Given the description of an element on the screen output the (x, y) to click on. 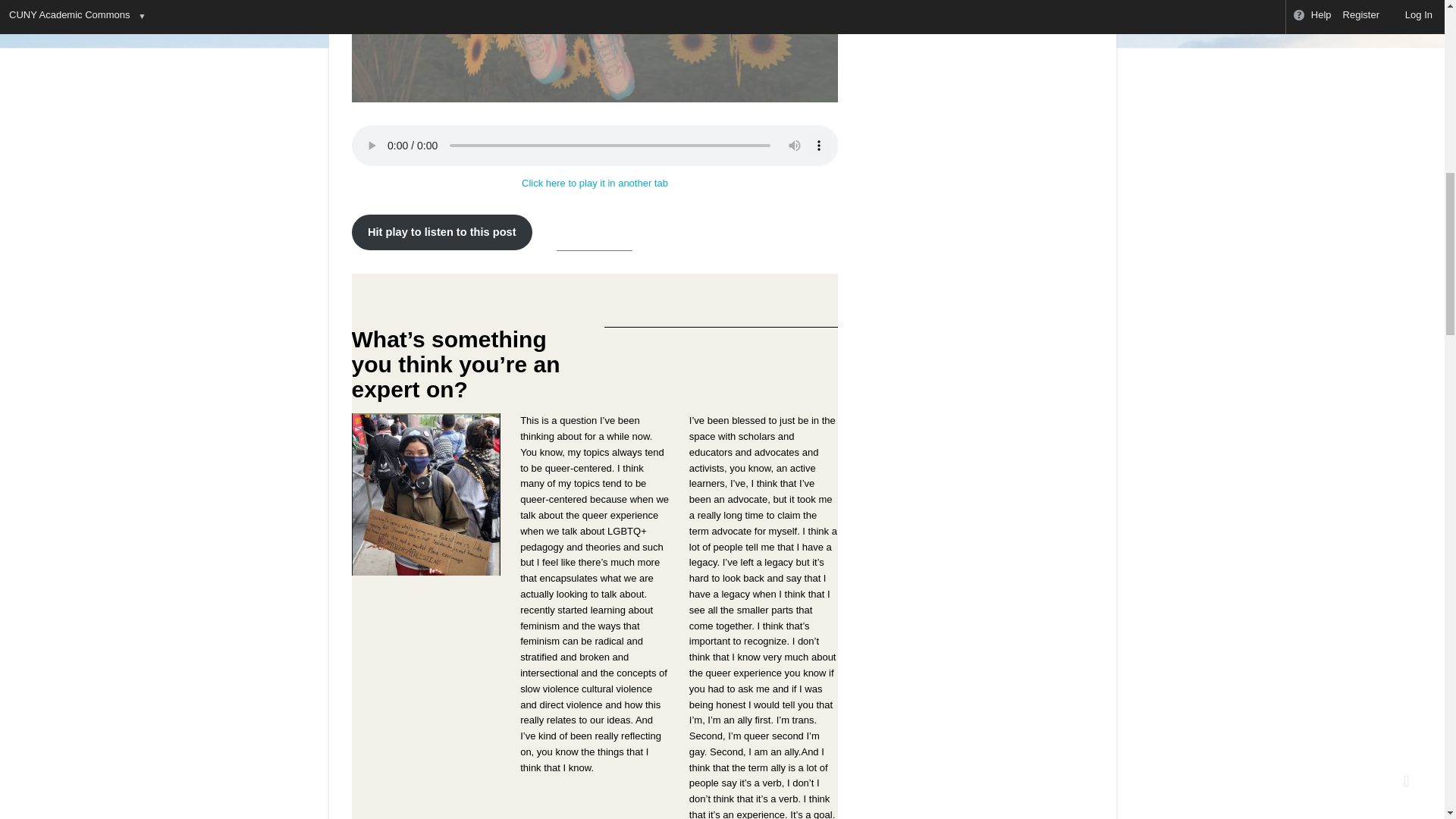
Hit play to listen to this post (442, 232)
Click here to play it in another tab (594, 183)
